Given the description of an element on the screen output the (x, y) to click on. 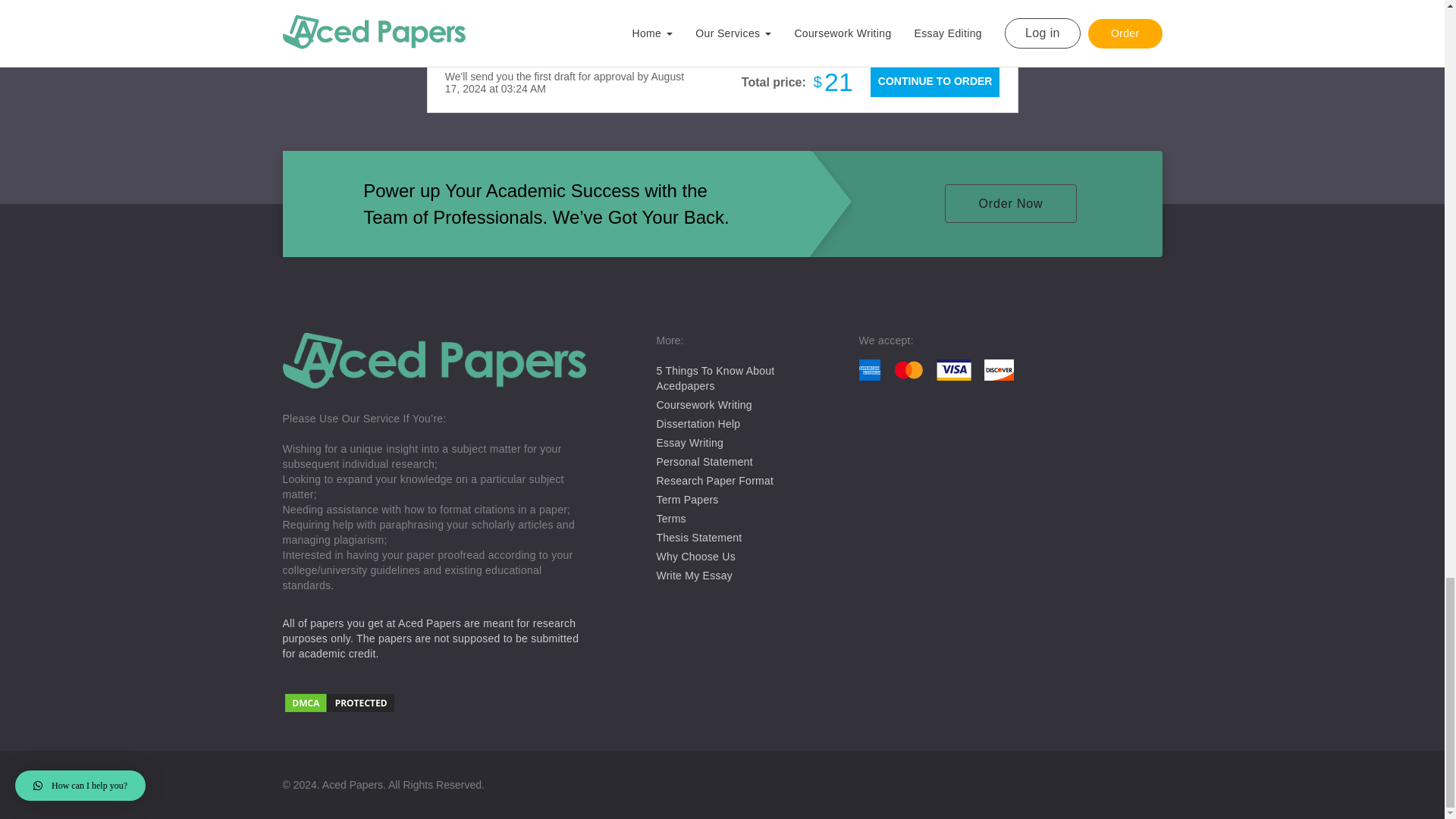
2 days (744, 4)
Continue to order (934, 81)
7 days (544, 4)
14 days (477, 4)
3 days (677, 4)
5 days (611, 4)
24 hours (811, 4)
